Given the description of an element on the screen output the (x, y) to click on. 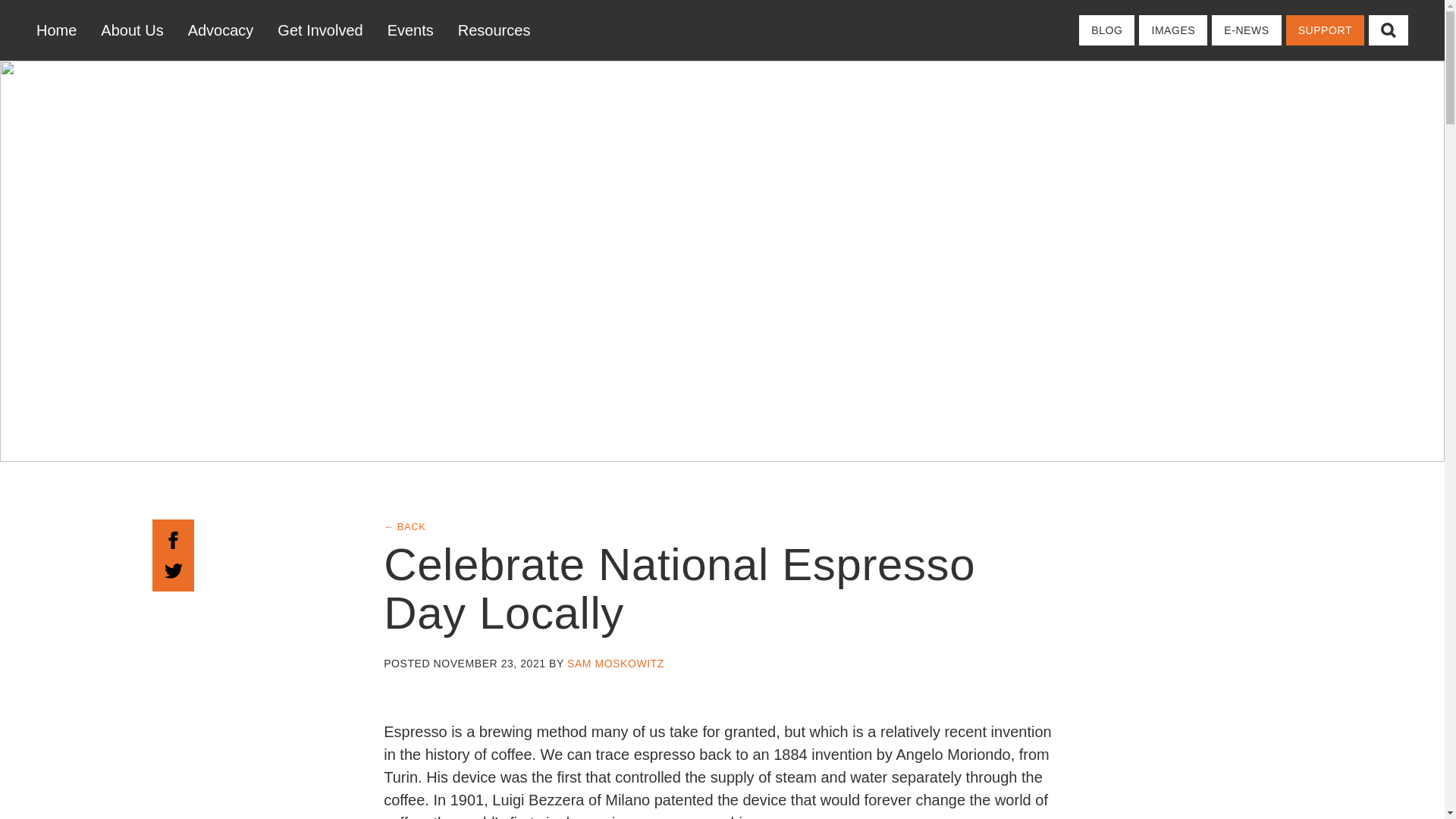
Advocacy (221, 30)
About Us (131, 30)
Home (62, 30)
Share on Facebook (173, 538)
Share on Twitter (173, 568)
Get Involved (319, 30)
Events (410, 30)
